Given the description of an element on the screen output the (x, y) to click on. 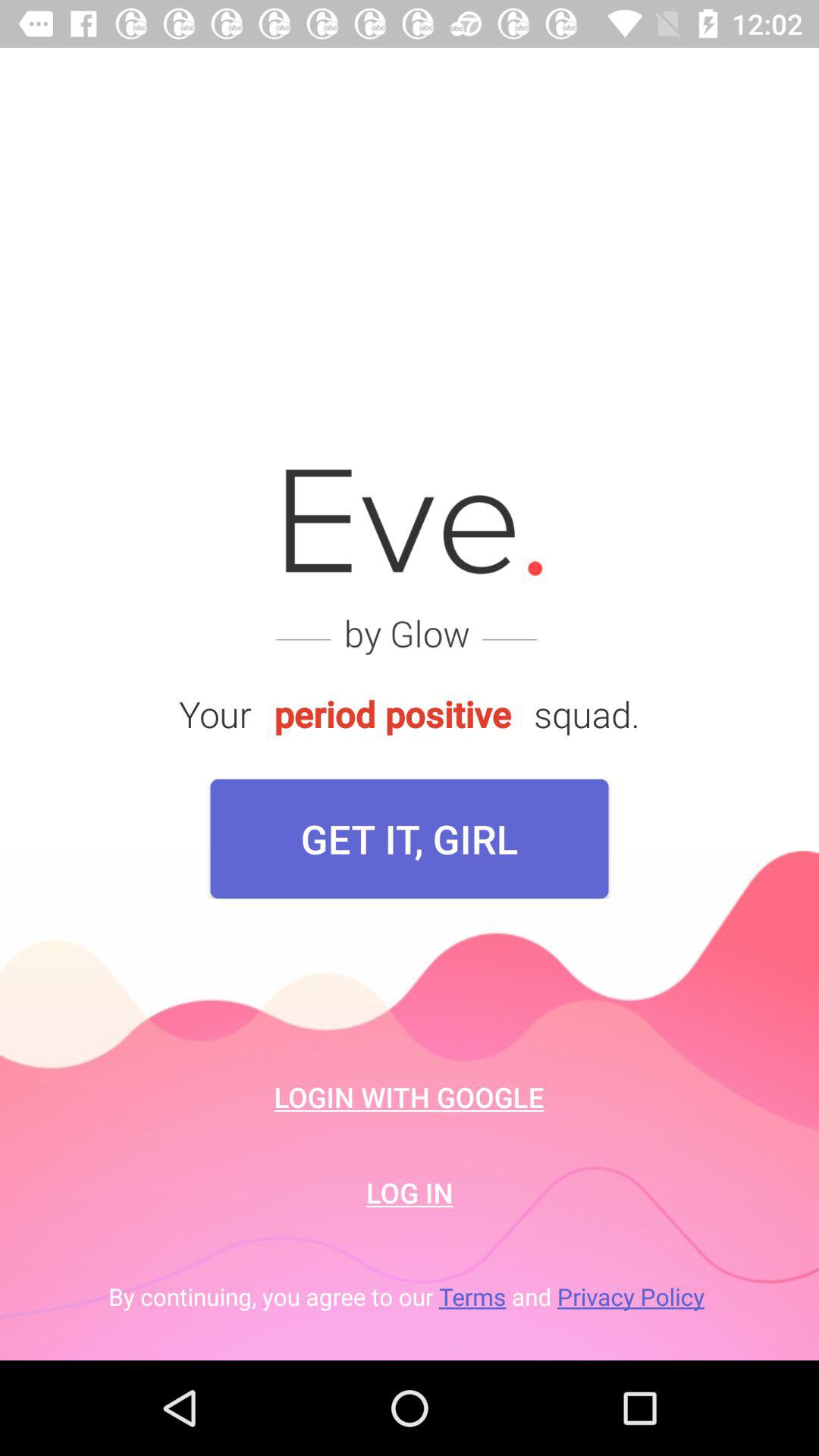
click the by continuing you icon (409, 1296)
